Given the description of an element on the screen output the (x, y) to click on. 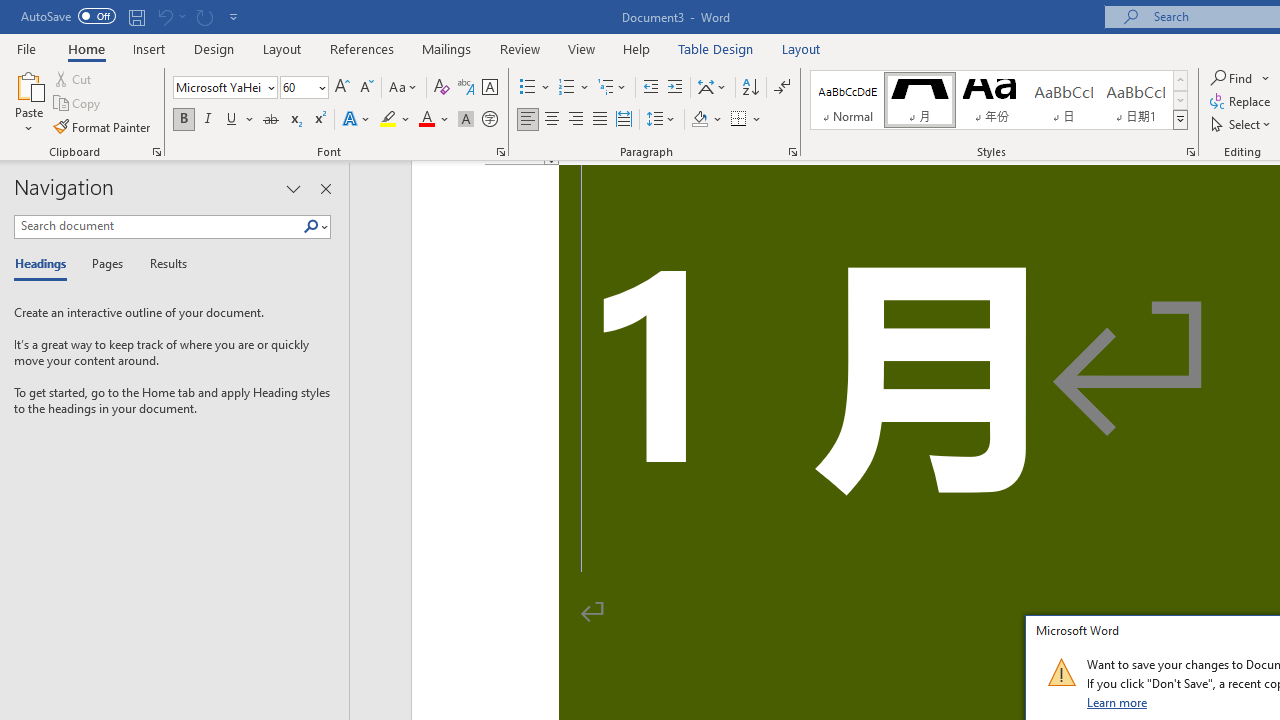
Grow Font (342, 87)
Shading RGB(0, 0, 0) (699, 119)
Pages (105, 264)
Underline (239, 119)
Increase Indent (675, 87)
Row up (1179, 79)
Numbering (566, 87)
Strikethrough (270, 119)
Numbering (573, 87)
AutoSave (68, 16)
Save (136, 15)
Sort... (750, 87)
Row Down (1179, 100)
Borders (739, 119)
